Given the description of an element on the screen output the (x, y) to click on. 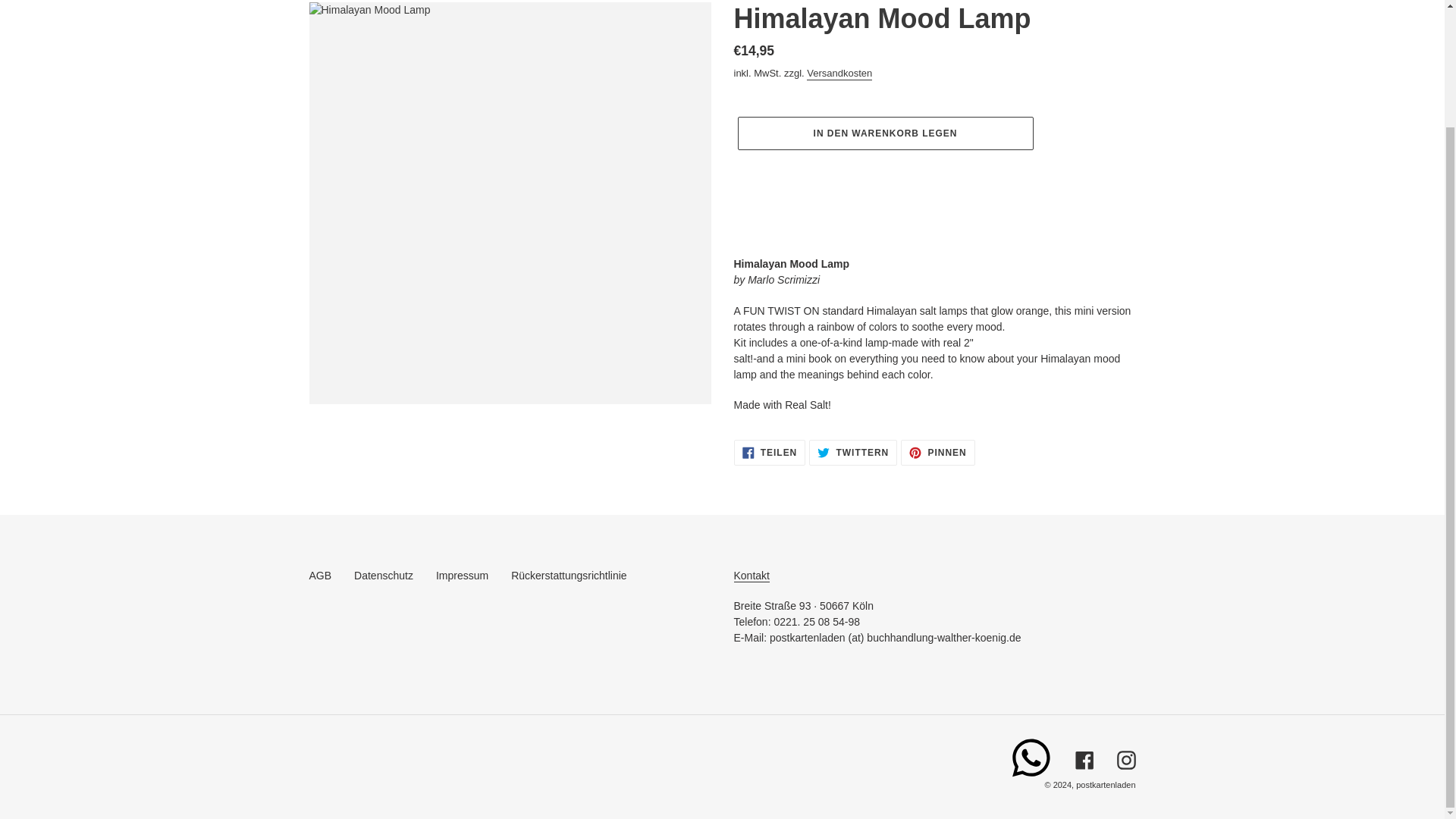
Kontakt (751, 575)
